Given the description of an element on the screen output the (x, y) to click on. 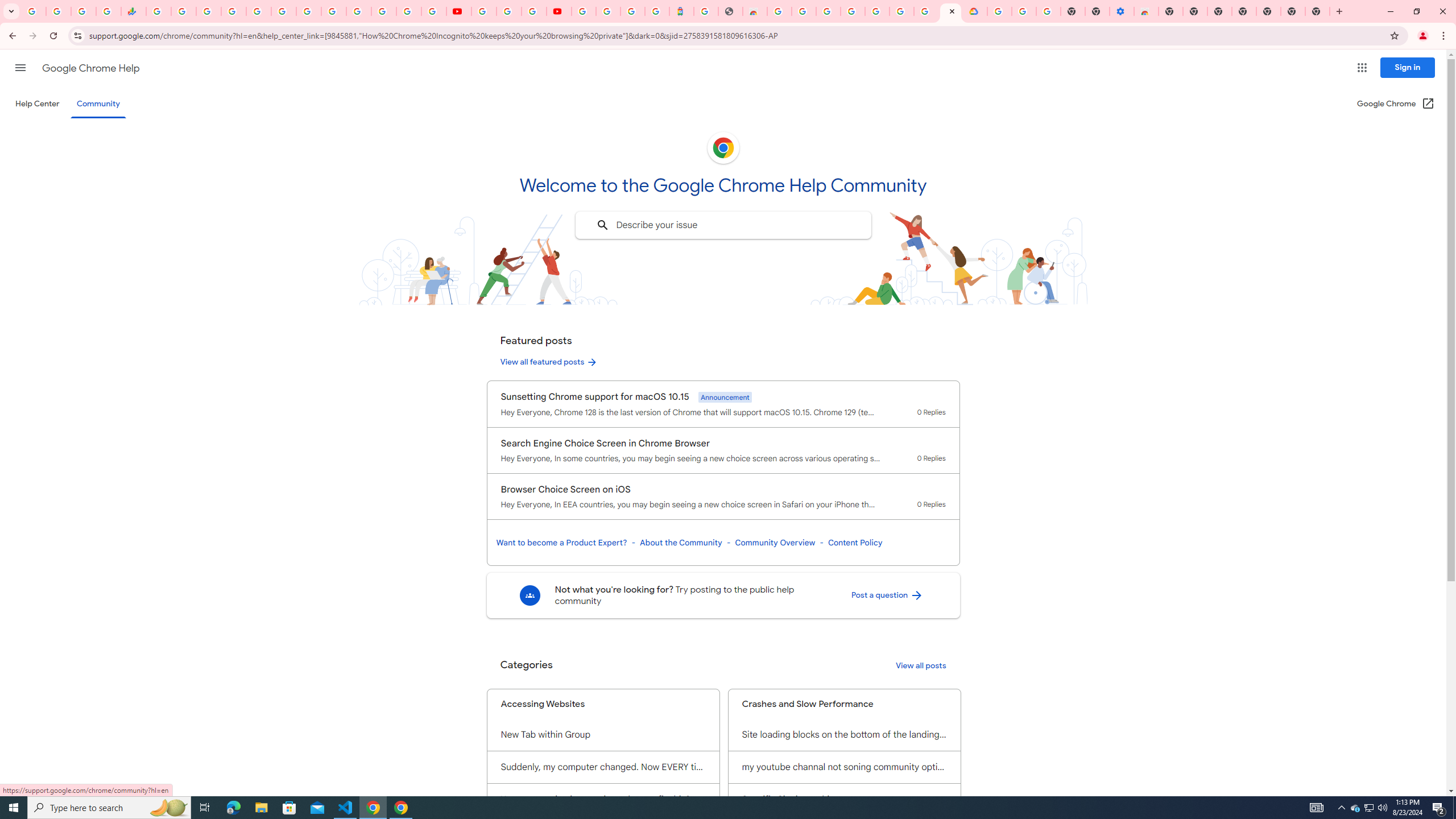
Create your Google Account (533, 11)
Content Creator Programs & Opportunities - YouTube Creators (558, 11)
Ad Settings (827, 11)
About the Community (680, 542)
New Tab (1170, 11)
Sign in - Google Accounts (233, 11)
YouTube (458, 11)
Google Account Help (509, 11)
